Given the description of an element on the screen output the (x, y) to click on. 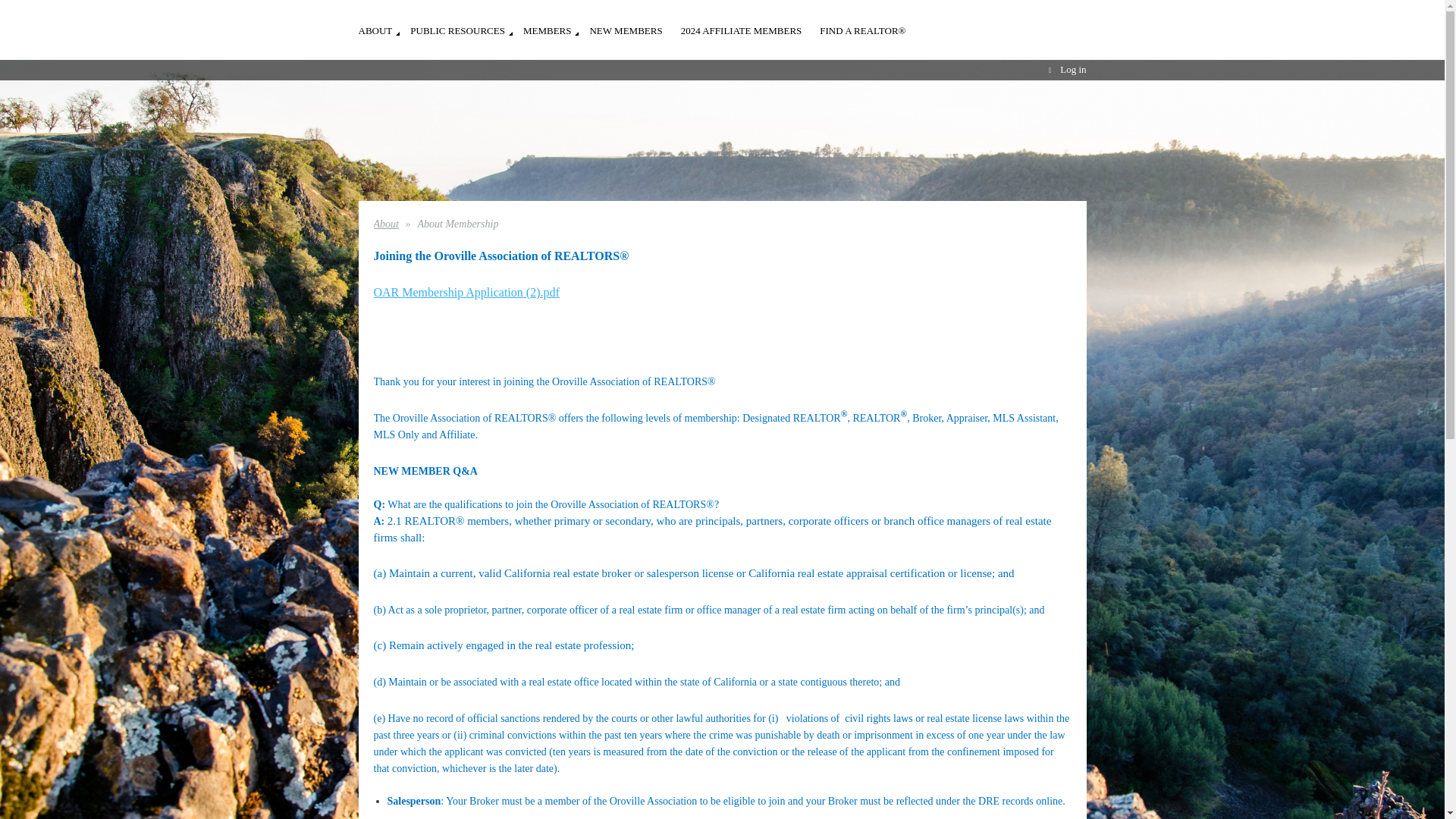
ABOUT (384, 22)
MEMBERS (555, 22)
PUBLIC RESOURCES (466, 22)
